Given the description of an element on the screen output the (x, y) to click on. 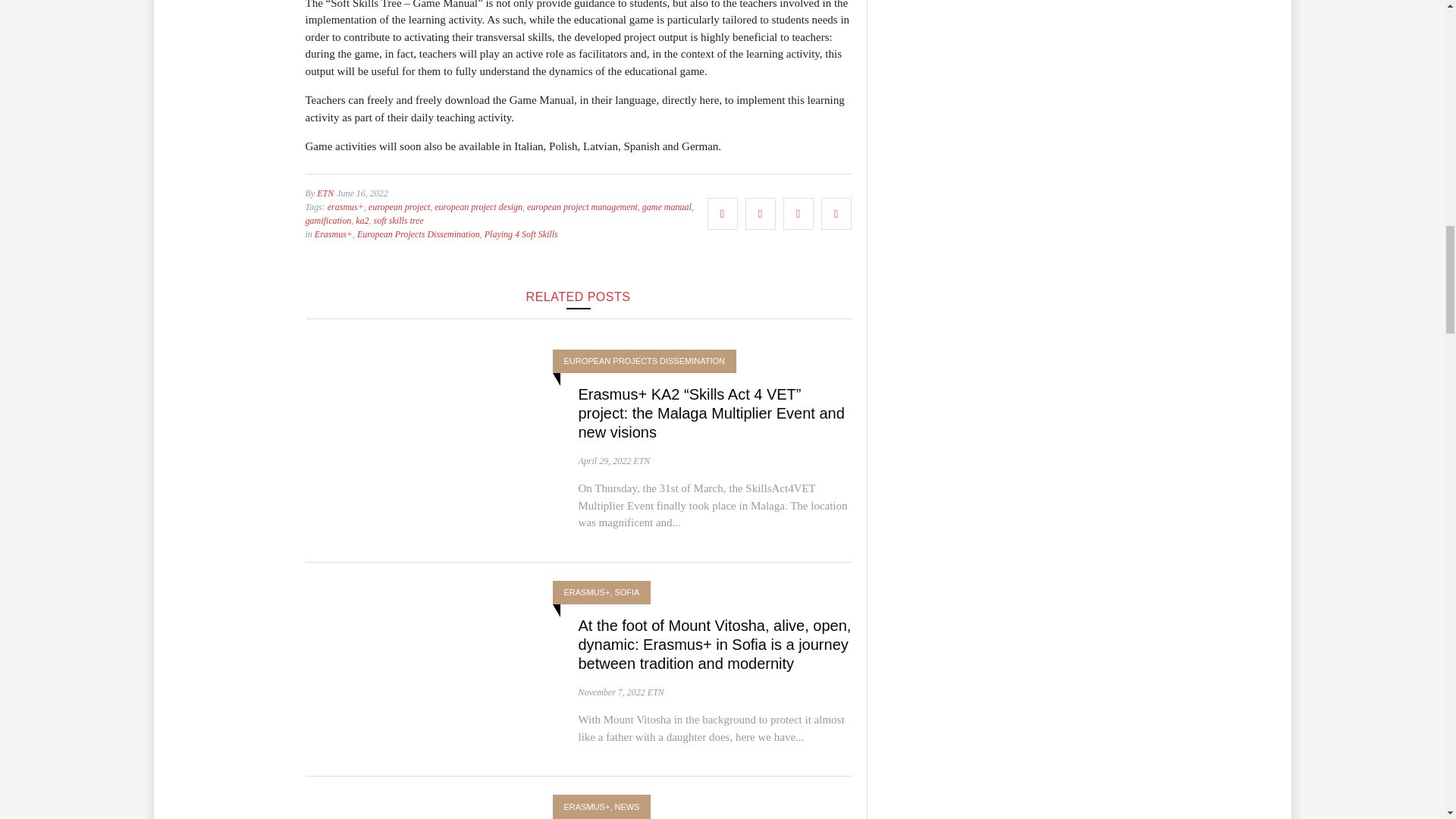
Posts by ETN (325, 193)
Posts by ETN (655, 692)
Posts by ETN (641, 460)
